Given the description of an element on the screen output the (x, y) to click on. 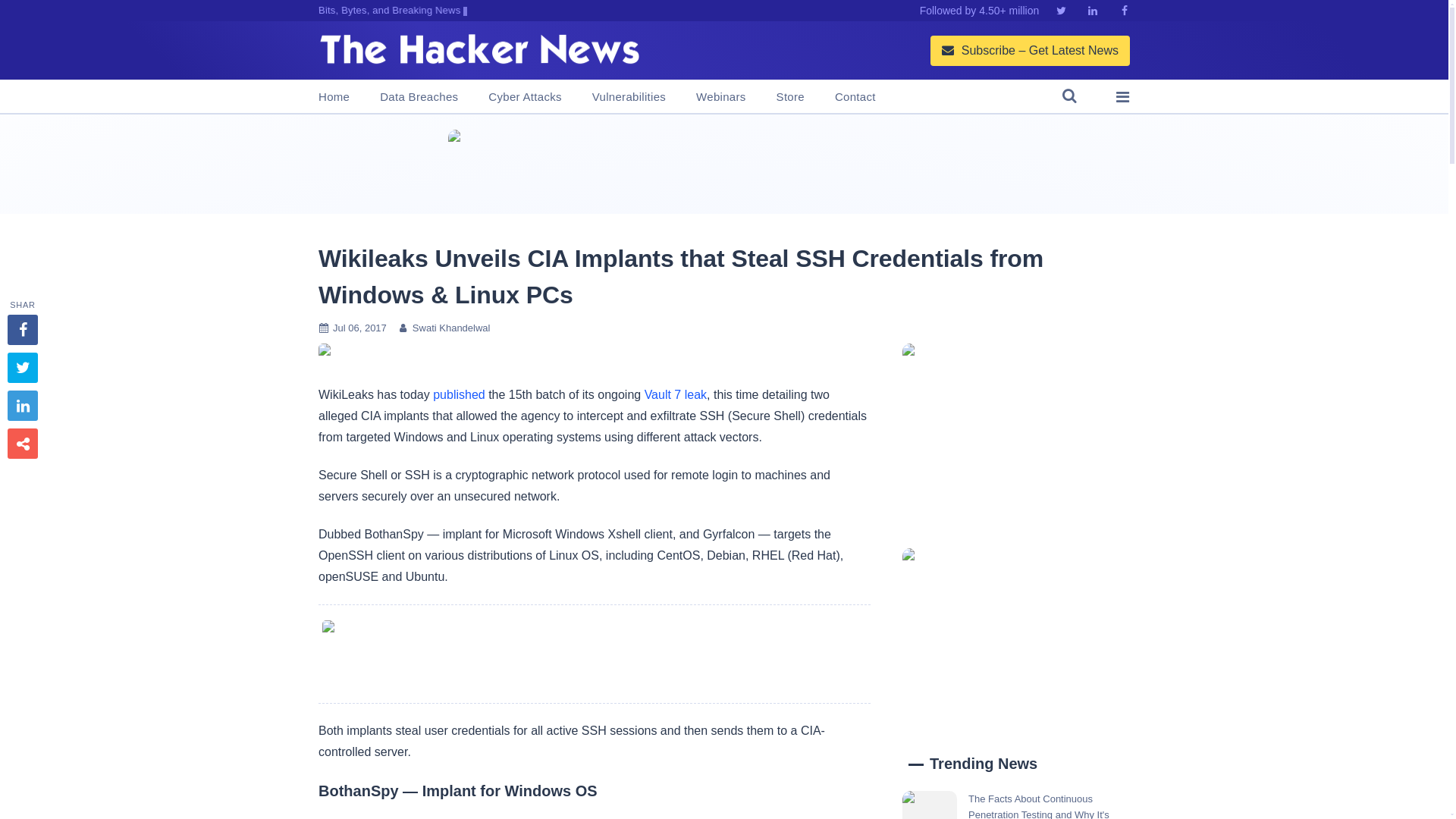
Contact (855, 96)
Vulnerabilities (628, 96)
Cybersecurity (593, 653)
Data Breaches (419, 96)
Webinars (720, 96)
Vault 7 leak (675, 394)
Cyber Attacks (523, 96)
Home (333, 96)
published (458, 394)
